Given the description of an element on the screen output the (x, y) to click on. 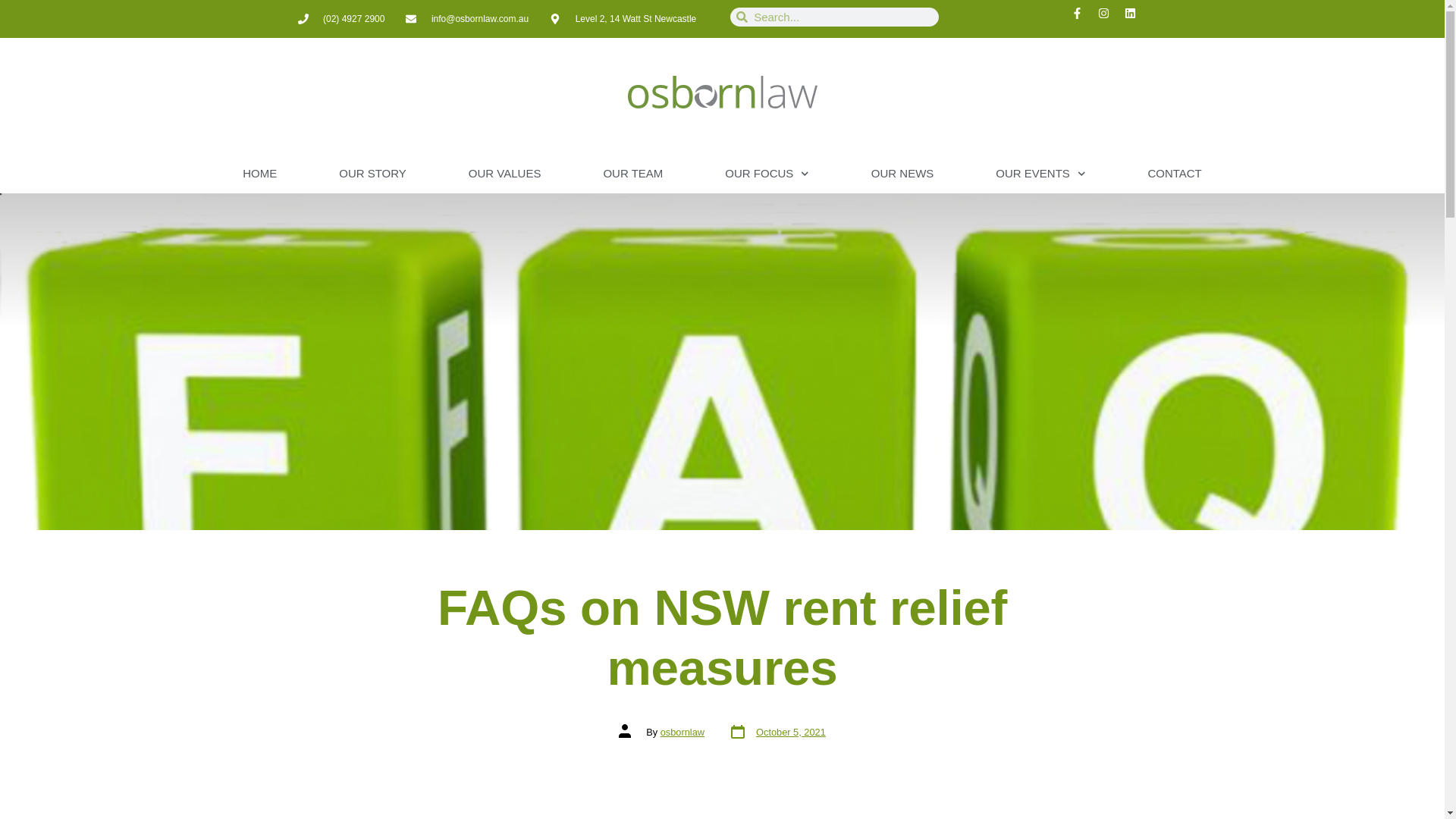
osbornlaw-logo-web (721, 92)
OUR STORY (372, 173)
HOME (259, 173)
OUR TEAM (633, 173)
OUR NEWS (902, 173)
CONTACT (1173, 173)
OUR FOCUS (767, 173)
OUR EVENTS (1039, 173)
OUR VALUES (505, 173)
Level 2, 14 Watt St Newcastle (622, 19)
